Given the description of an element on the screen output the (x, y) to click on. 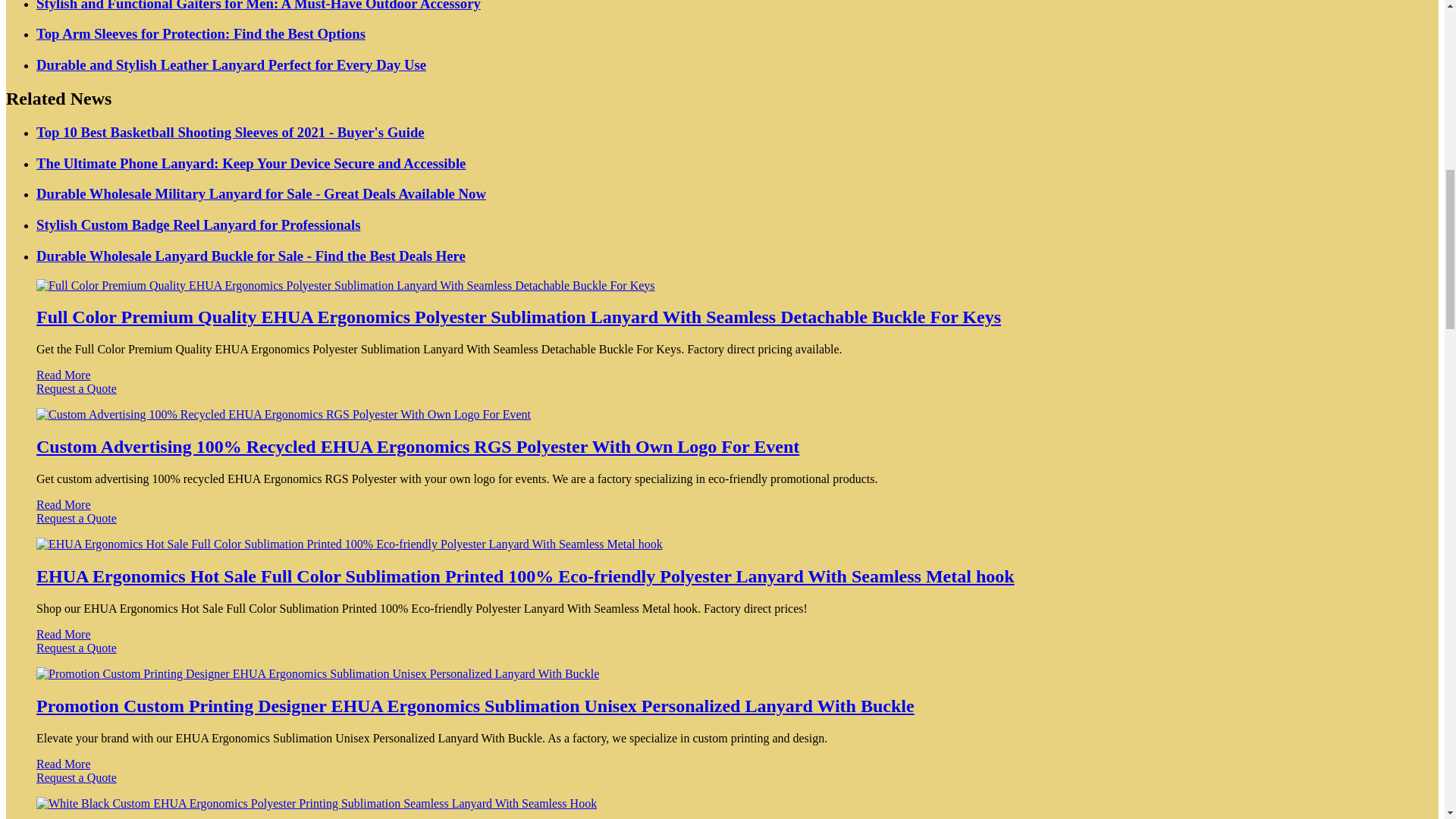
Read More (63, 374)
Request a Quote (721, 395)
